Given the description of an element on the screen output the (x, y) to click on. 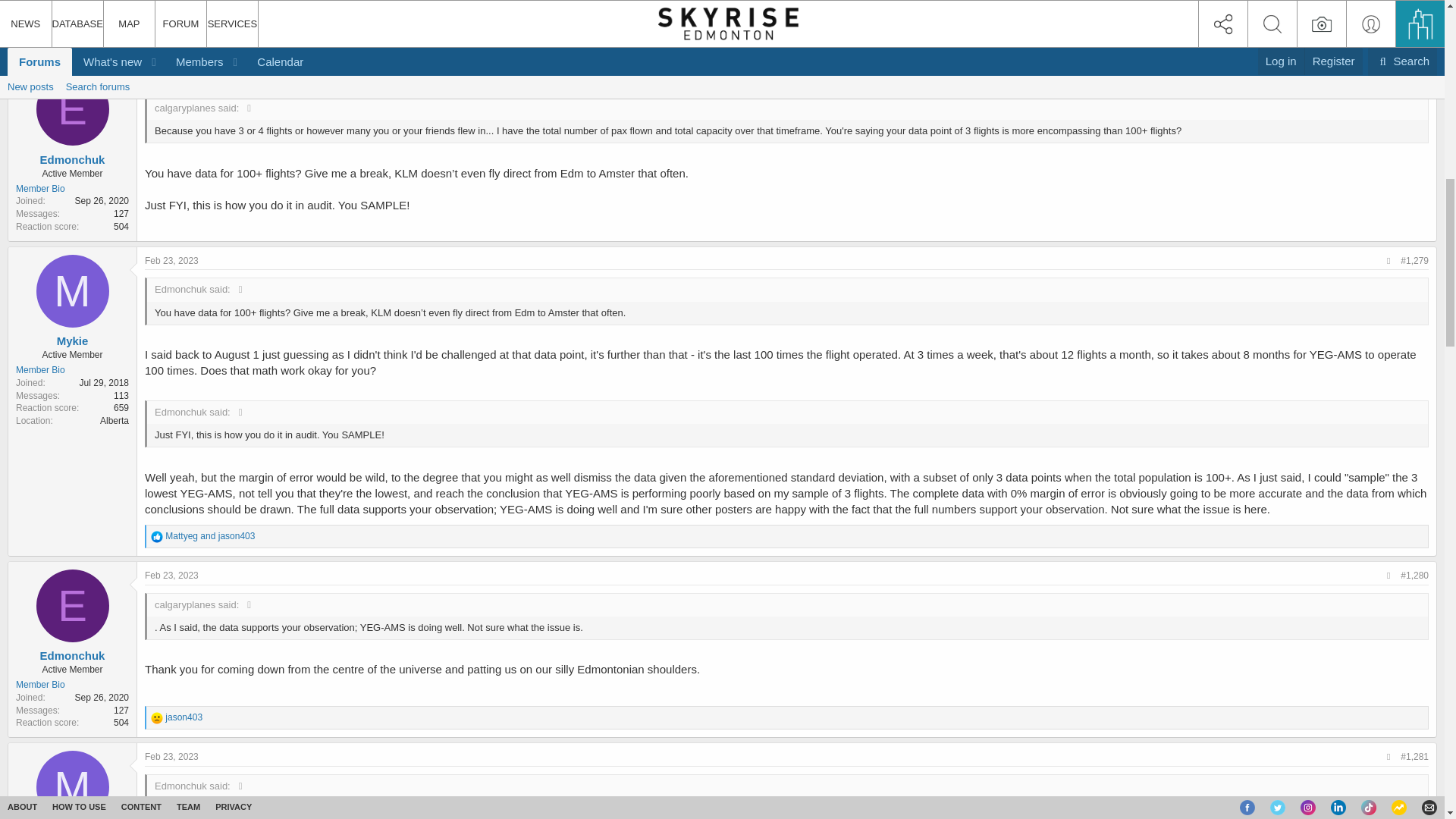
Feb 24, 2023 at 8:16 AM (1403, 13)
Feb 23, 2023 at 4:06 PM (171, 260)
Feb 23, 2023 at 3:57 PM (171, 78)
Like (157, 39)
Feb 23, 2023 at 4:10 PM (171, 575)
Like (157, 536)
